Given the description of an element on the screen output the (x, y) to click on. 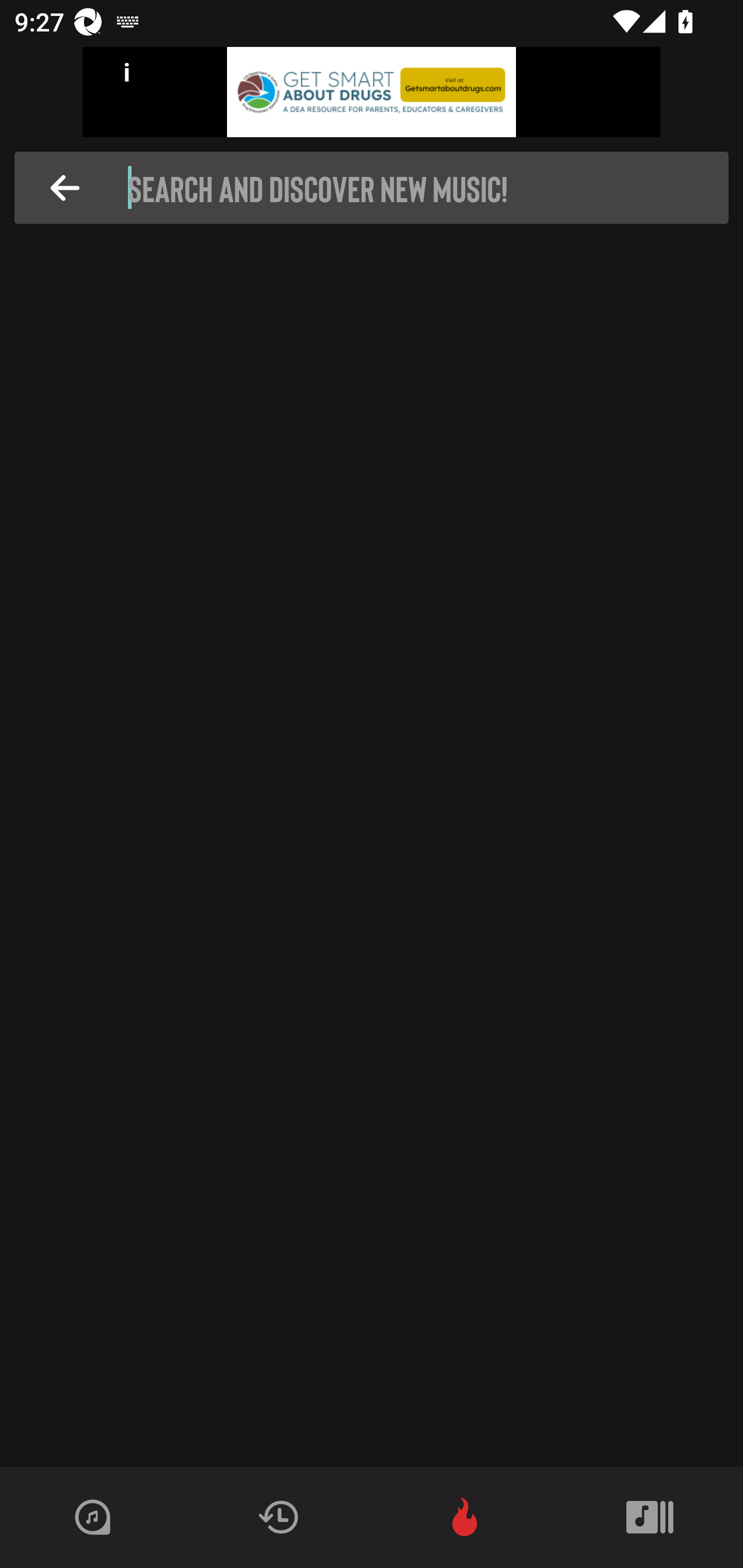
SEARCH AND DISCOVER NEW MUSIC! (377, 188)
Description (64, 188)
